Given the description of an element on the screen output the (x, y) to click on. 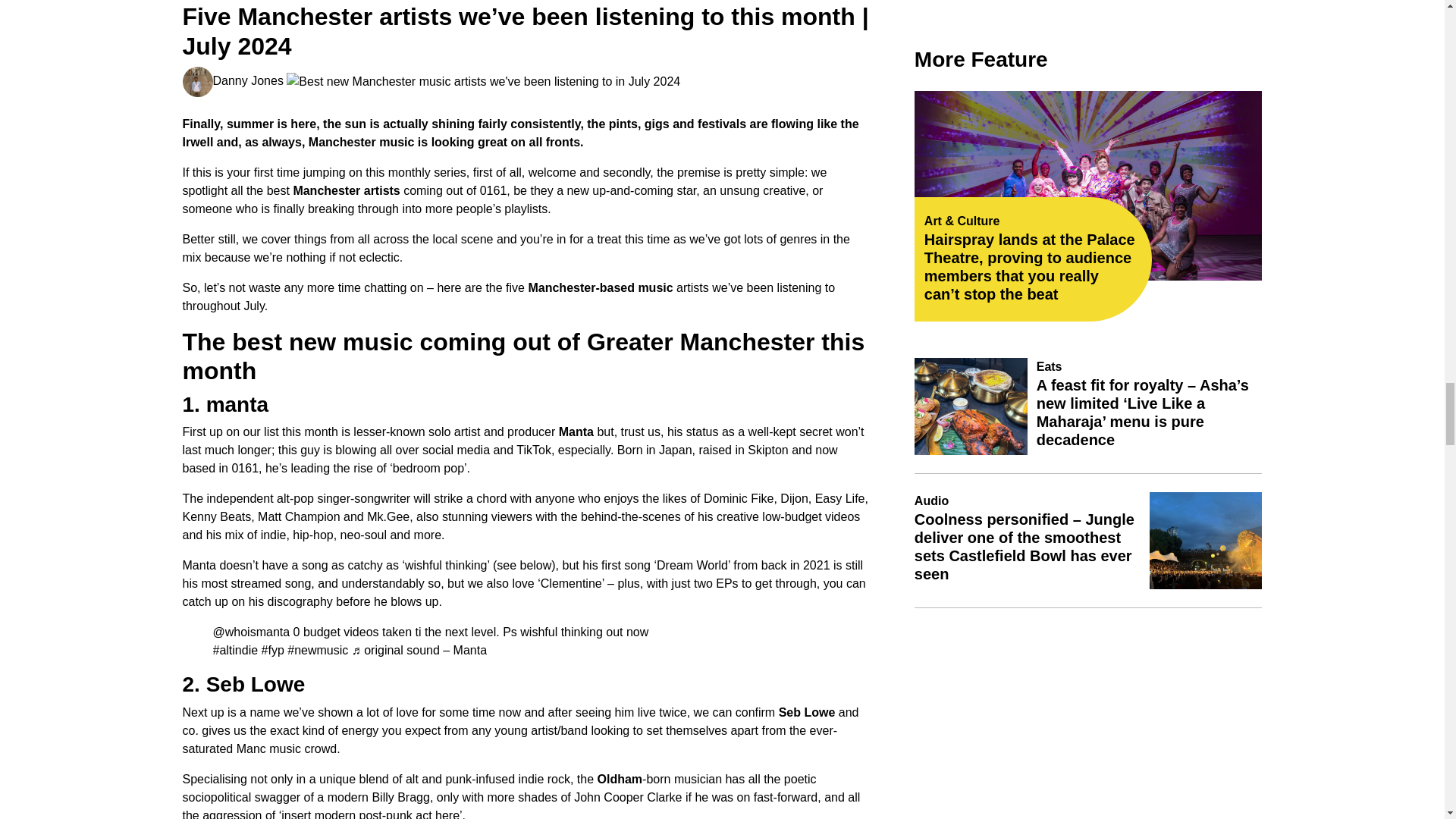
newmusic (316, 650)
fyp (272, 650)
altindie (234, 650)
